Given the description of an element on the screen output the (x, y) to click on. 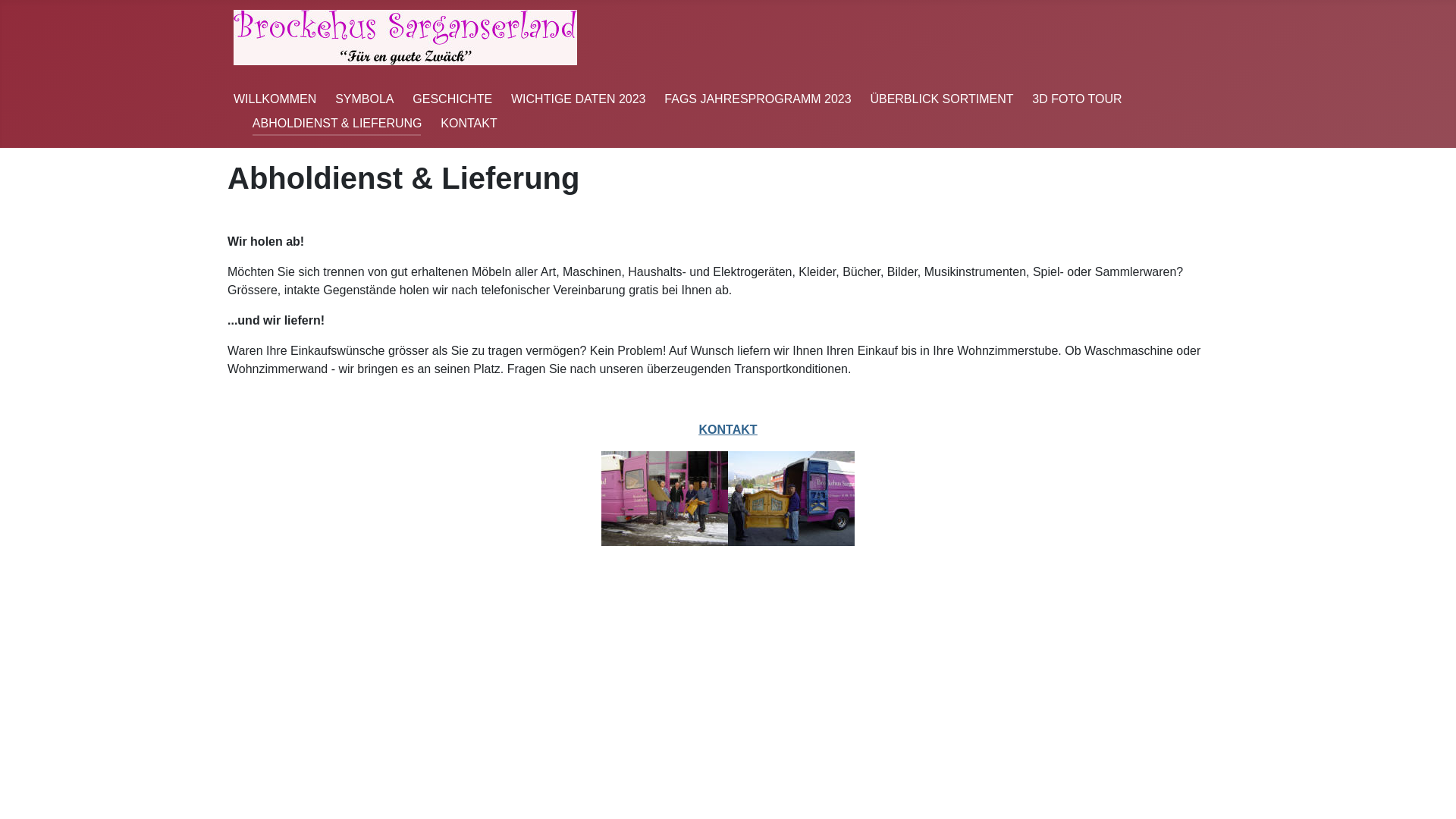
KONTAKT Element type: text (727, 429)
ABHOLDIENST & LIEFERUNG Element type: text (337, 122)
FAGS JAHRESPROGRAMM 2023 Element type: text (757, 98)
GESCHICHTE Element type: text (452, 98)
3D FOTO TOUR Element type: text (1076, 98)
WILLKOMMEN Element type: text (274, 98)
WICHTIGE DATEN 2023 Element type: text (578, 98)
SYMBOLA Element type: text (364, 98)
KONTAKT Element type: text (468, 122)
